Given the description of an element on the screen output the (x, y) to click on. 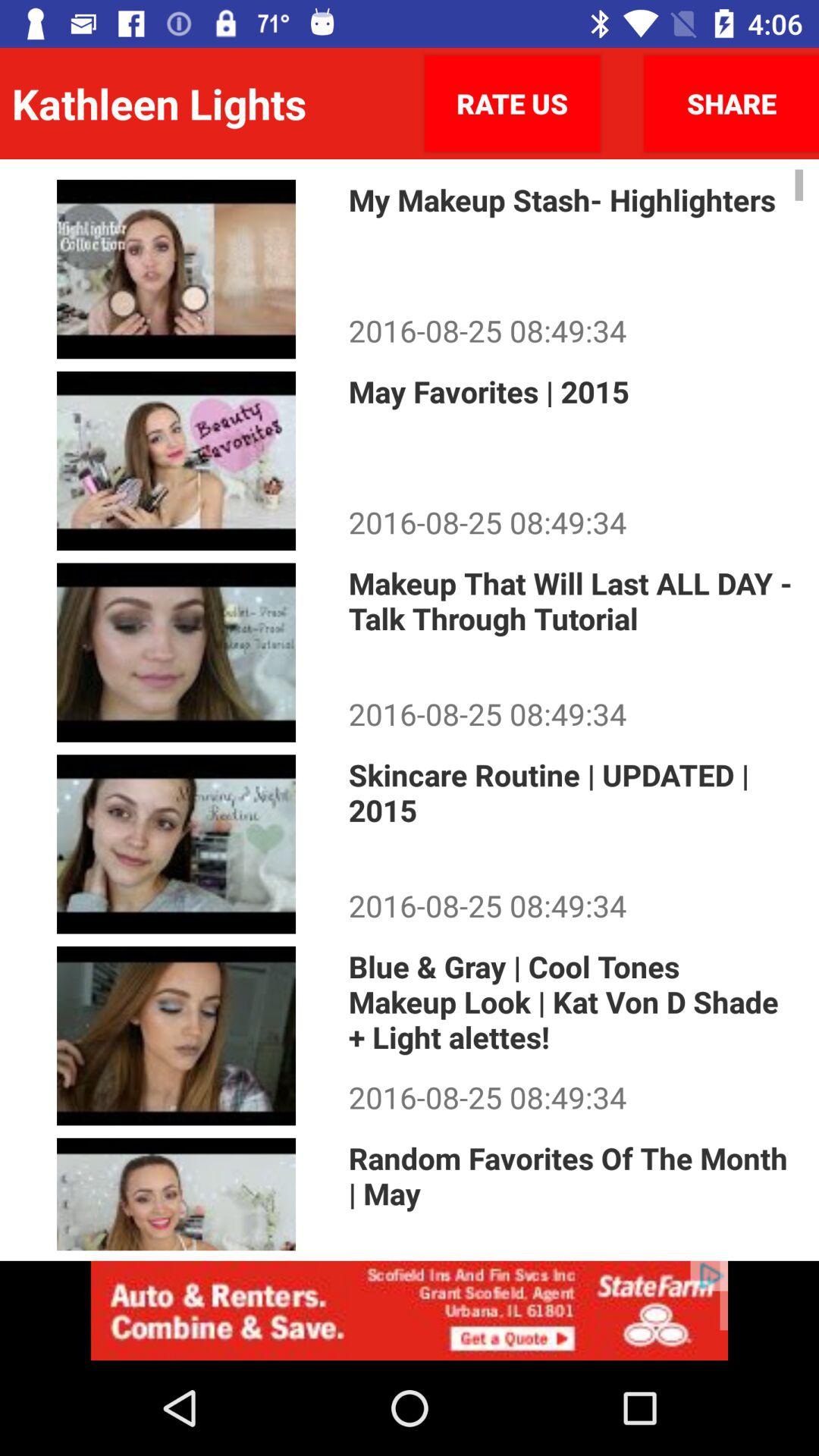
bottom advertisement (409, 1310)
